Given the description of an element on the screen output the (x, y) to click on. 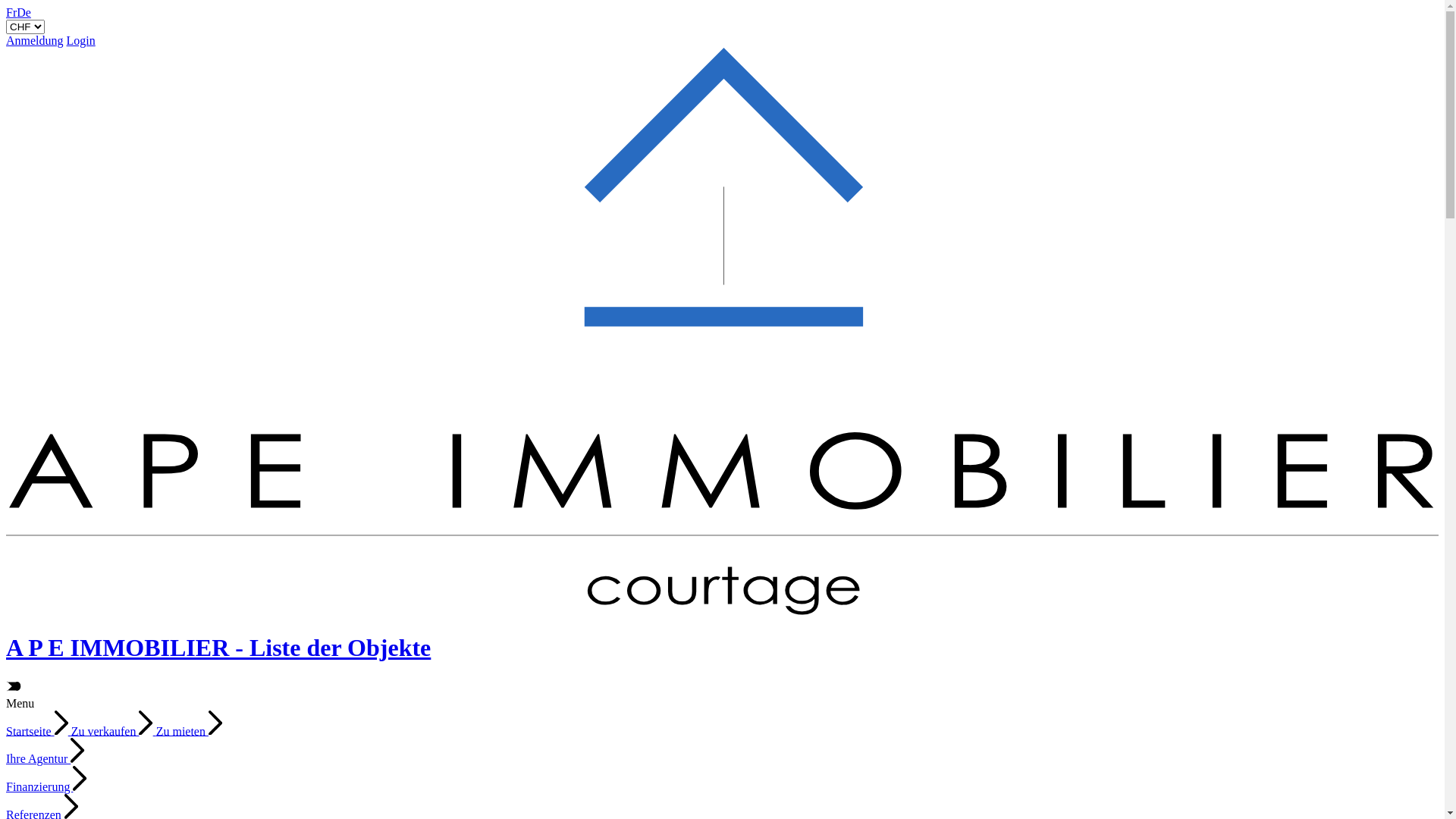
Startseite Element type: text (38, 730)
De Element type: text (23, 12)
Zu verkaufen Element type: text (113, 730)
ape_immobilier
A P E IMMOBILIER - Liste der Objekte Element type: text (722, 633)
Fr Element type: text (11, 12)
Finanzierung Element type: text (46, 786)
Ihre Agentur Element type: text (45, 758)
Login Element type: text (80, 40)
Anmeldung Element type: text (34, 40)
Zu mieten Element type: text (189, 730)
